Given the description of an element on the screen output the (x, y) to click on. 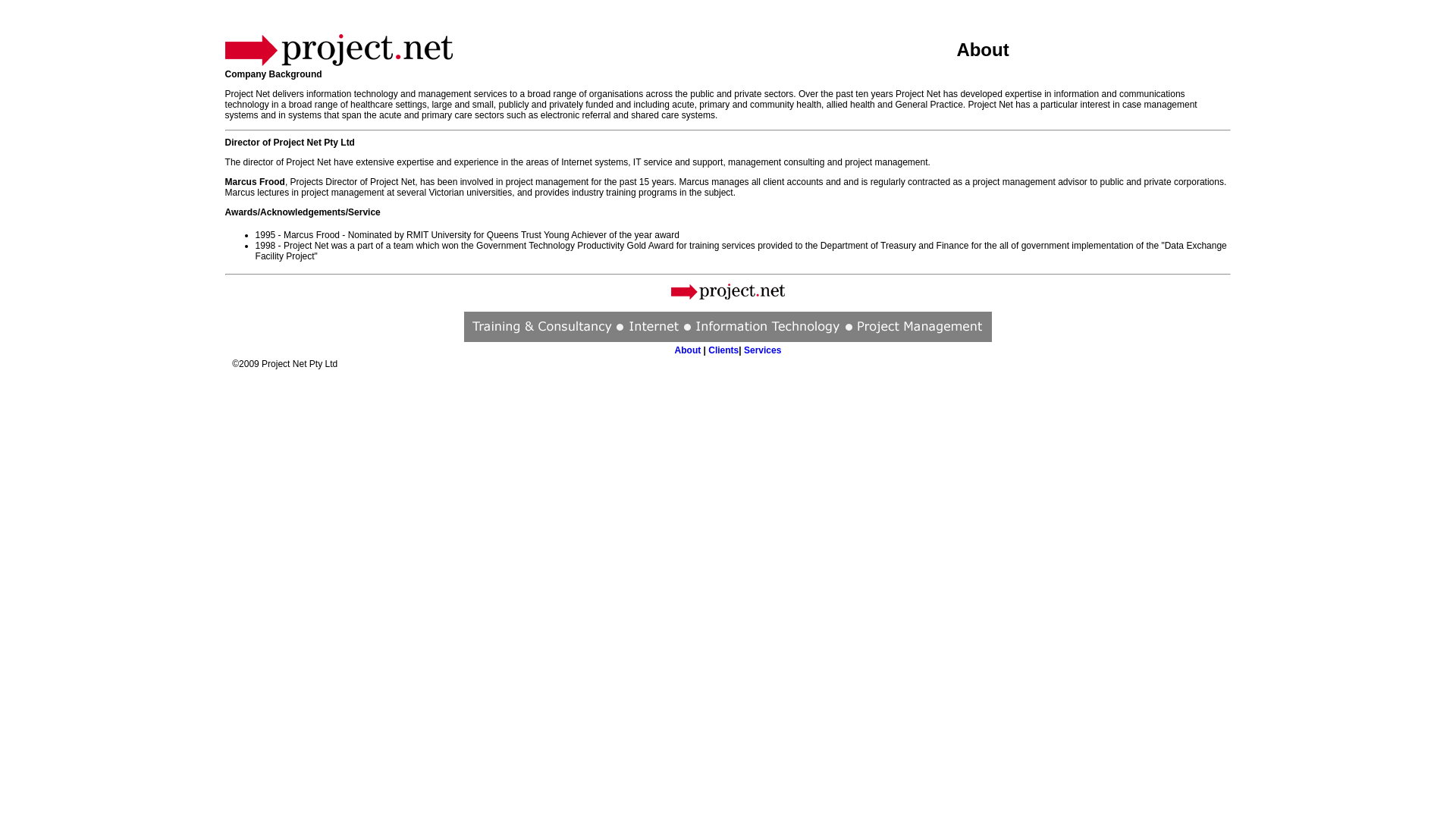
Services Element type: text (762, 350)
Clients Element type: text (723, 350)
About Element type: text (688, 350)
